Given the description of an element on the screen output the (x, y) to click on. 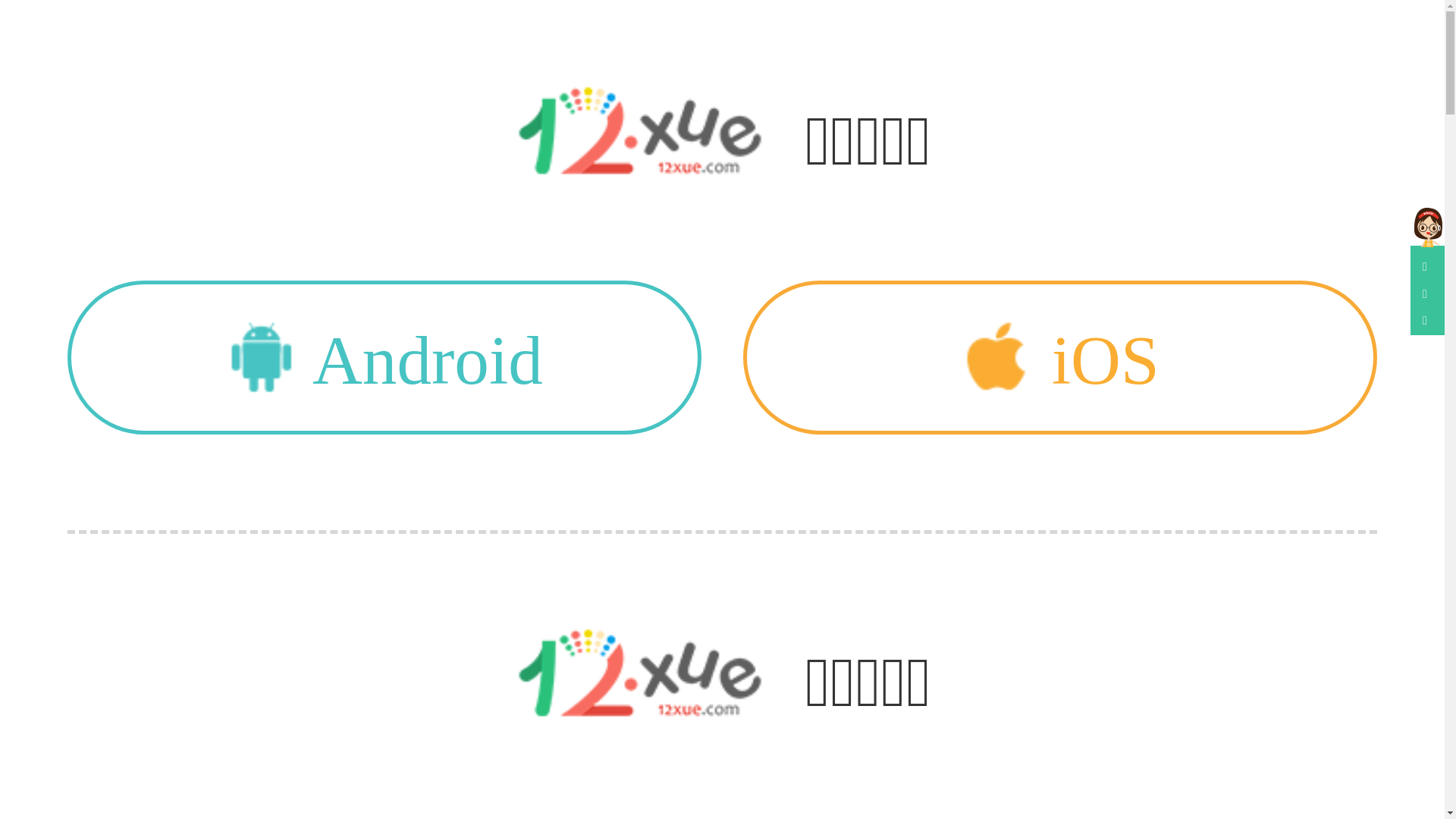
iOS Element type: text (1060, 357)
Android Element type: text (384, 357)
